Given the description of an element on the screen output the (x, y) to click on. 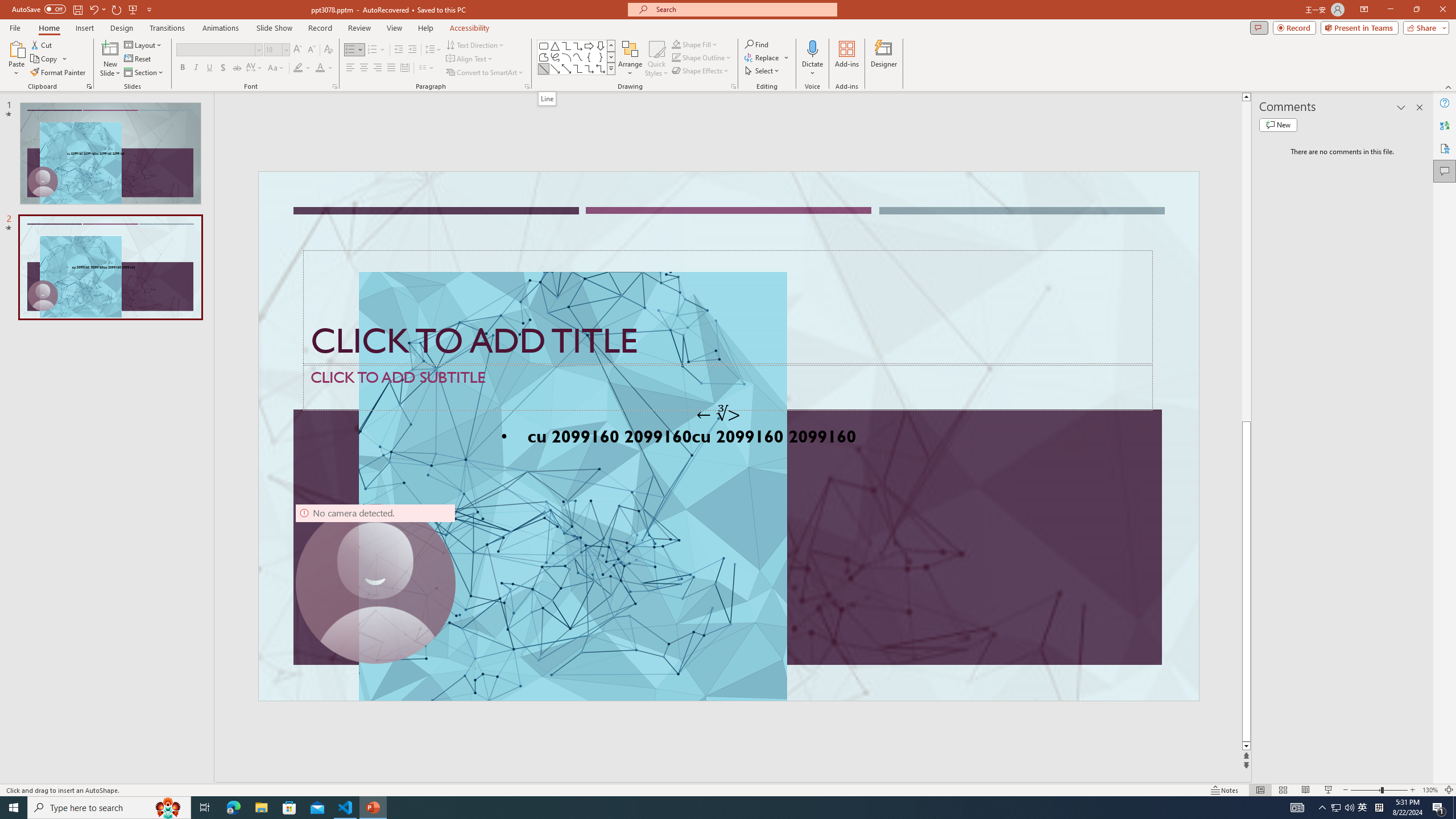
WebIDE (732, 114)
Transformer Circuits Thread (713, 78)
test.ipynb (491, 183)
Microsoft security help and learning (102, 348)
Go Forward (Alt+RightArrow) (627, 150)
Explorer (Ctrl+Shift+E) (76, 221)
